Given the description of an element on the screen output the (x, y) to click on. 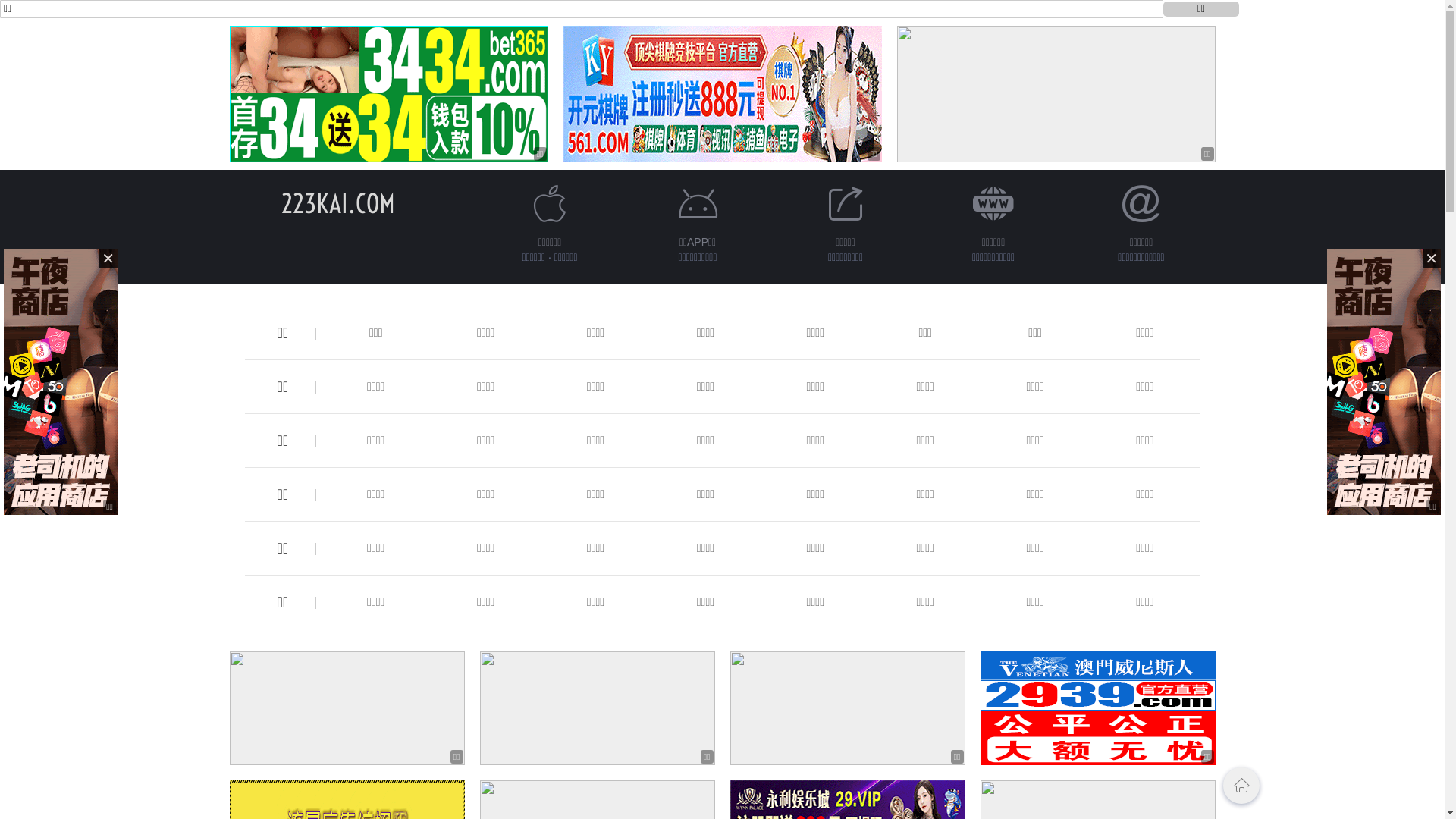
223KAI.COM Element type: text (337, 203)
